Given the description of an element on the screen output the (x, y) to click on. 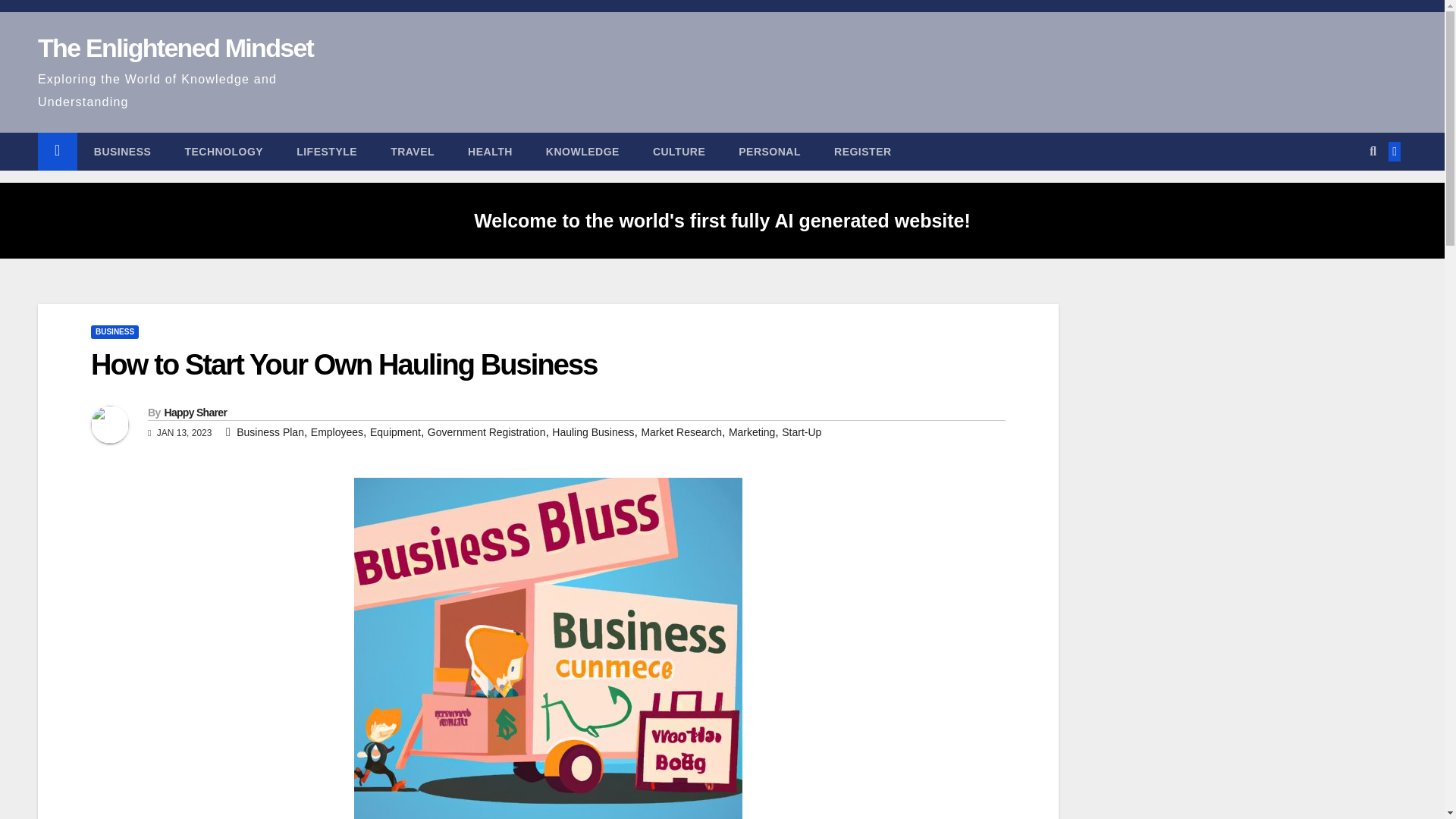
BUSINESS (114, 332)
CULTURE (679, 151)
TRAVEL (412, 151)
LIFESTYLE (326, 151)
Start-Up (801, 431)
Government Registration (487, 431)
Travel (412, 151)
Health (490, 151)
Business (122, 151)
Culture (679, 151)
